Given the description of an element on the screen output the (x, y) to click on. 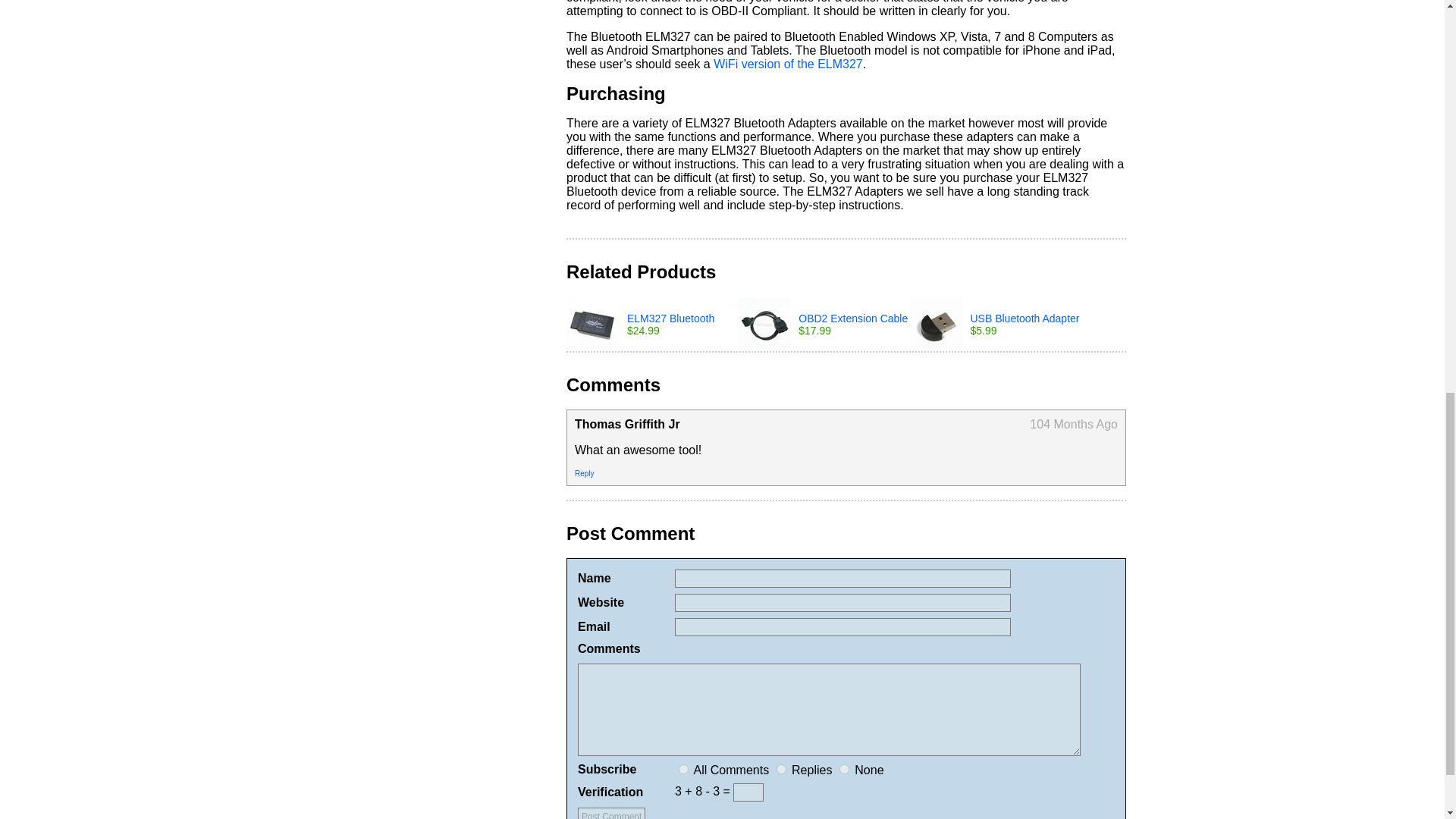
USB Bluetooth Adapter (1025, 318)
replies (781, 768)
ELM327 Wi-Fi (788, 63)
none (844, 768)
all (683, 768)
OBD2 Extension Cable (852, 318)
ELM327 Bluetooth (670, 318)
Post Comment (611, 813)
